Given the description of an element on the screen output the (x, y) to click on. 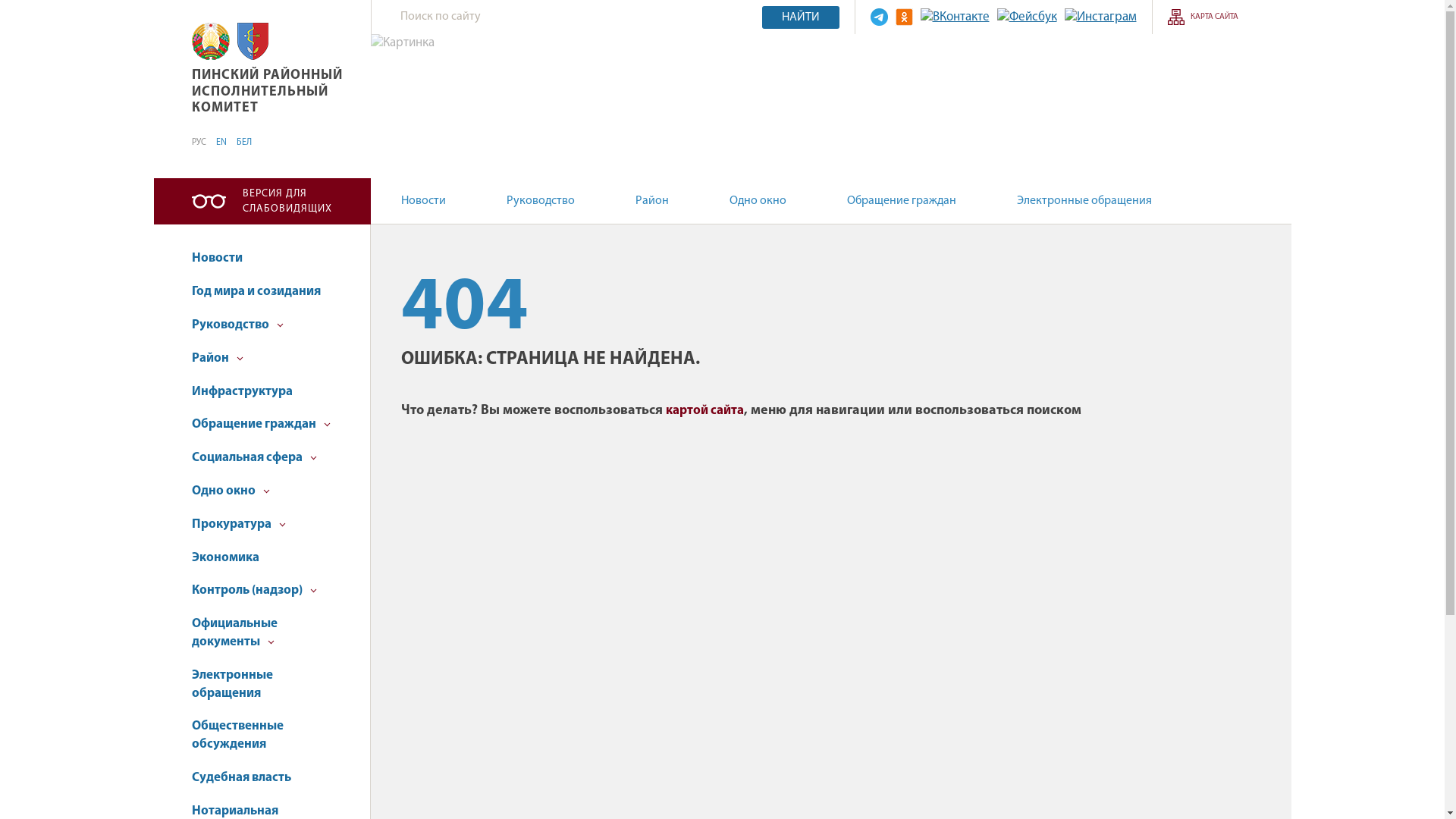
EN Element type: text (220, 142)
